Given the description of an element on the screen output the (x, y) to click on. 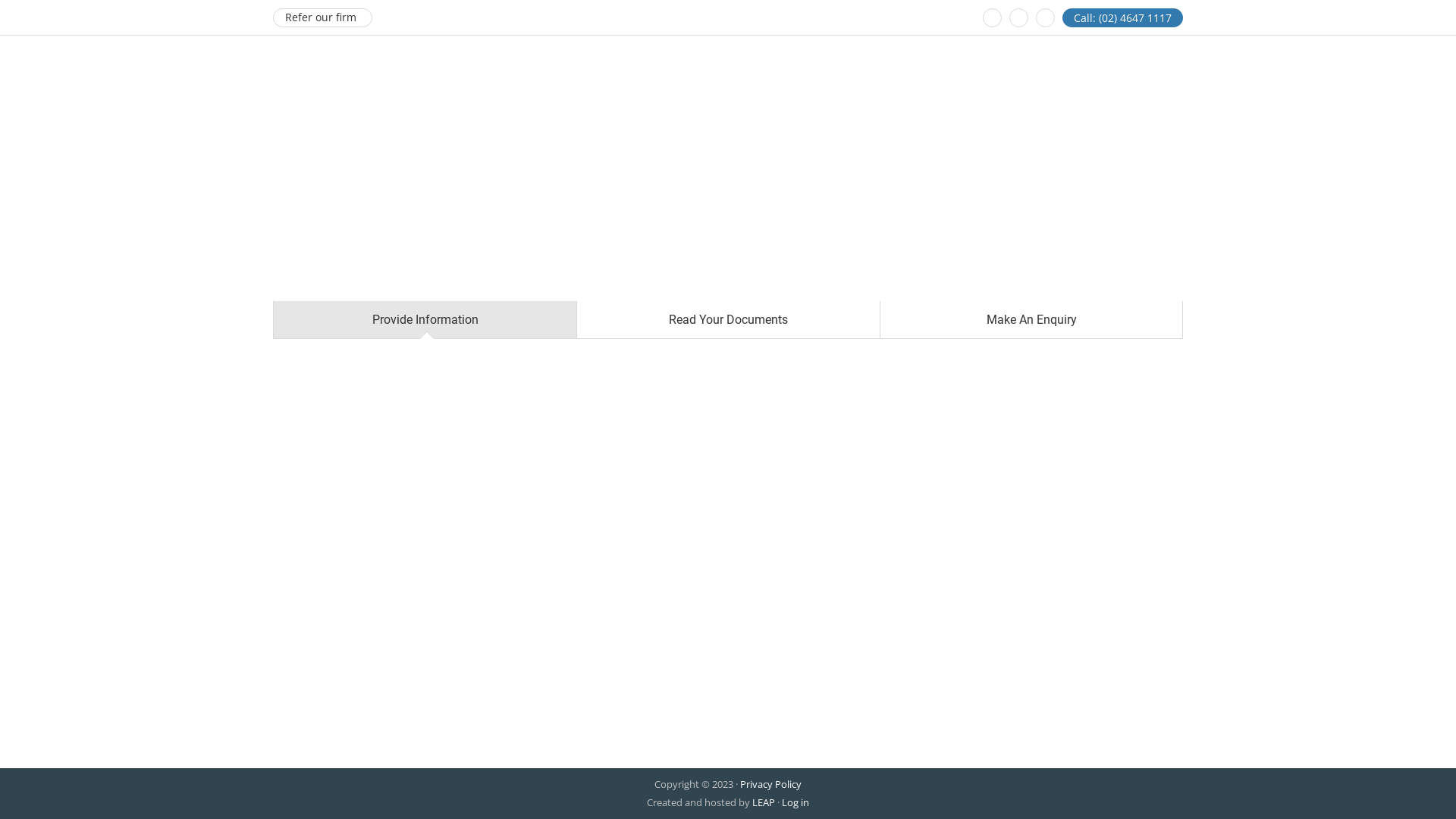
Facebook Element type: hover (991, 17)
Call: (02) 4647 1117 Element type: text (1122, 17)
Read Your Documents Element type: text (727, 319)
Skip to main content Element type: text (0, 0)
Provide Information Element type: text (424, 319)
Refer our firm Element type: text (322, 18)
Back to website Element type: hover (1044, 17)
Privacy Policy Element type: text (770, 783)
Linkedin Element type: hover (1018, 17)
LEAP Element type: text (763, 802)
Log in Element type: text (795, 802)
Make An Enquiry Element type: text (1031, 319)
